Given the description of an element on the screen output the (x, y) to click on. 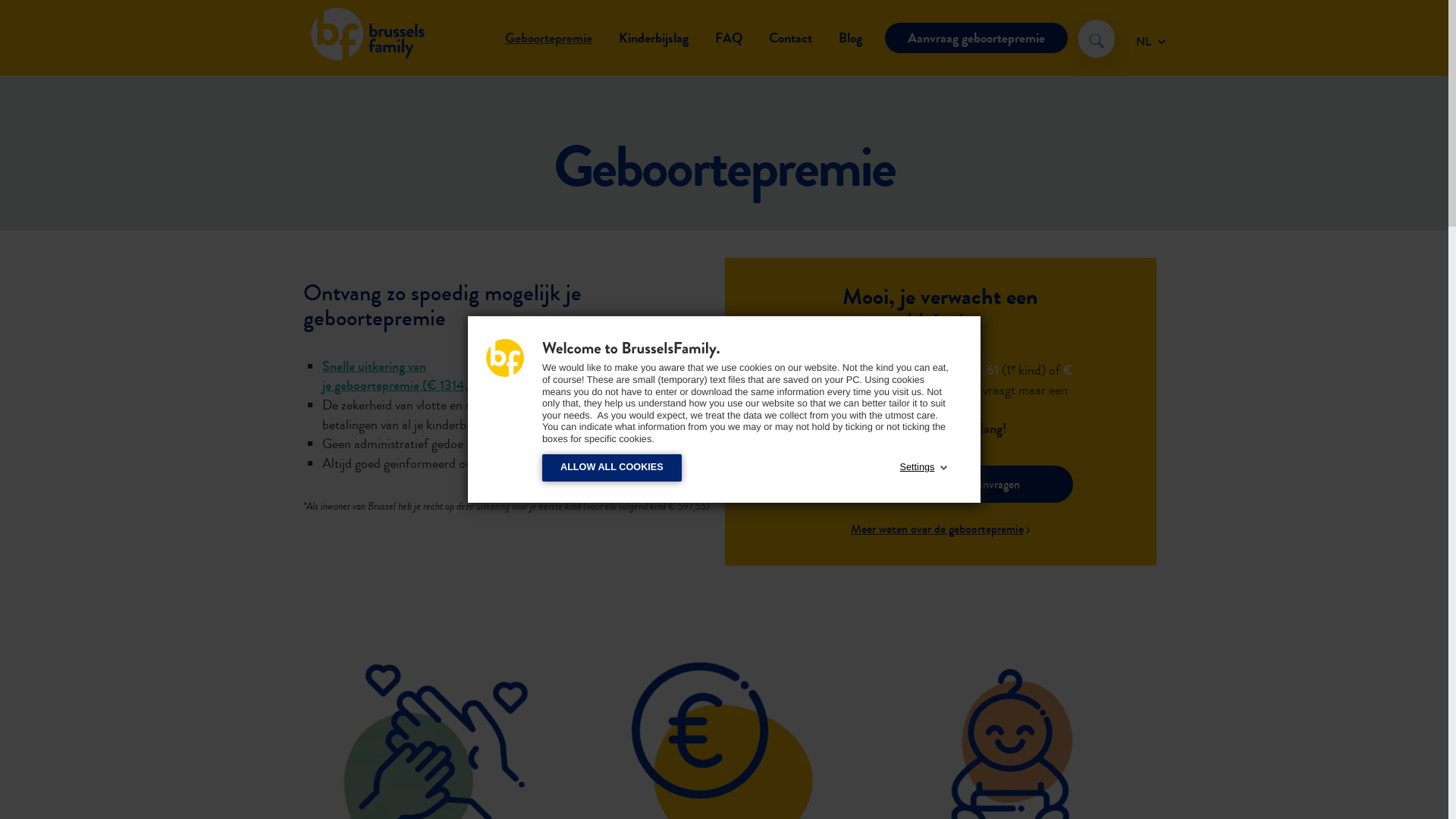
FAQ Element type: text (728, 37)
Settings Element type: text (917, 467)
Nu de geboortepremie aanvragen Element type: text (940, 483)
Kinderbijslag Element type: text (653, 37)
Aanvraag geboortepremie Element type: text (976, 37)
NL Element type: text (1150, 39)
BrusselsFamily Element type: hover (363, 57)
Geboortepremie Element type: text (548, 37)
Blog Element type: text (850, 37)
Contact Element type: text (790, 37)
ALLOW ALL COOKIES Element type: text (611, 467)
Meer weten over de geboortepremie Element type: text (940, 528)
